Given the description of an element on the screen output the (x, y) to click on. 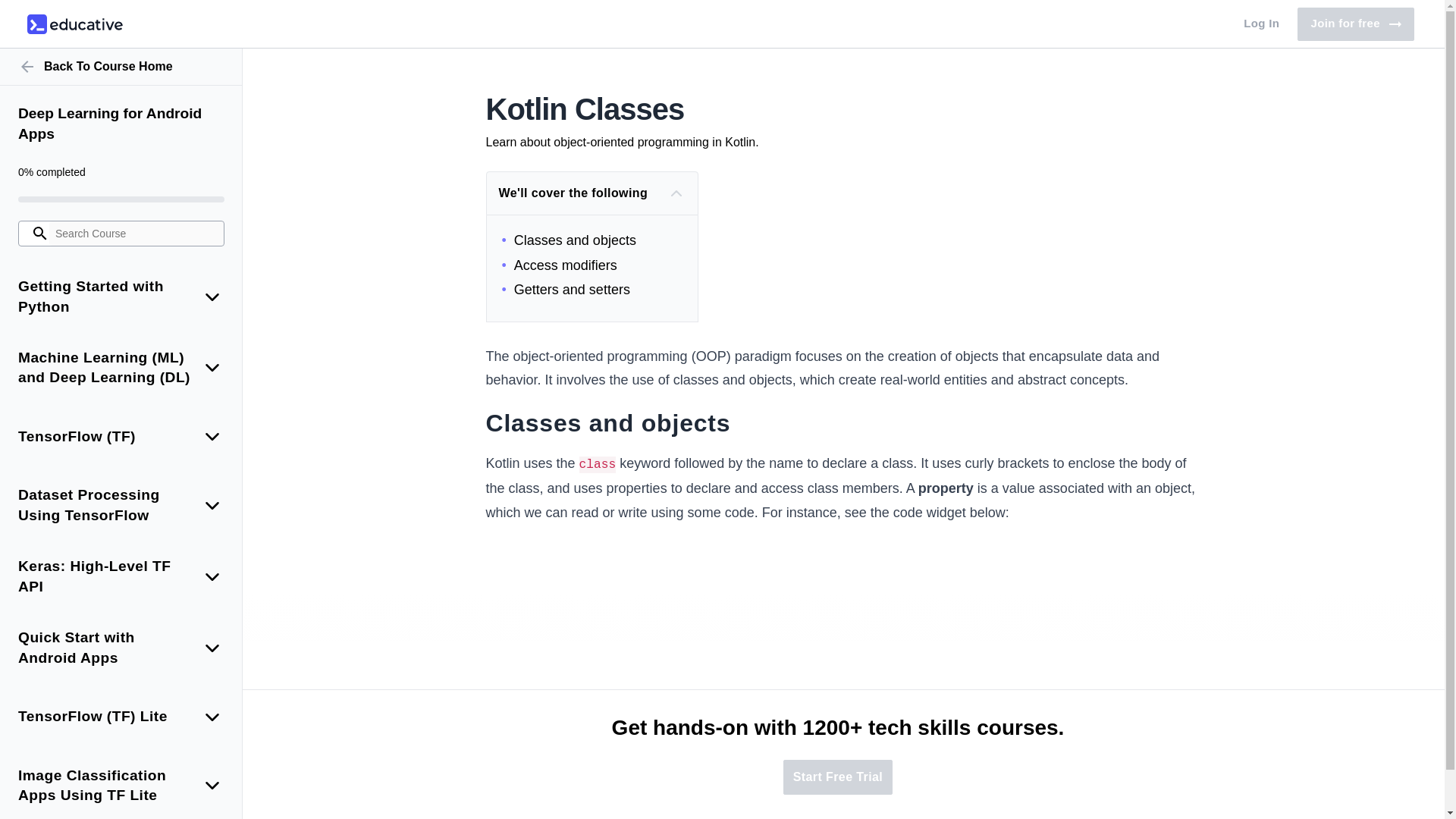
Back To Course Home (1355, 23)
educative.io (121, 66)
Deep Learning for Android Apps (74, 23)
Log In (121, 124)
